Given the description of an element on the screen output the (x, y) to click on. 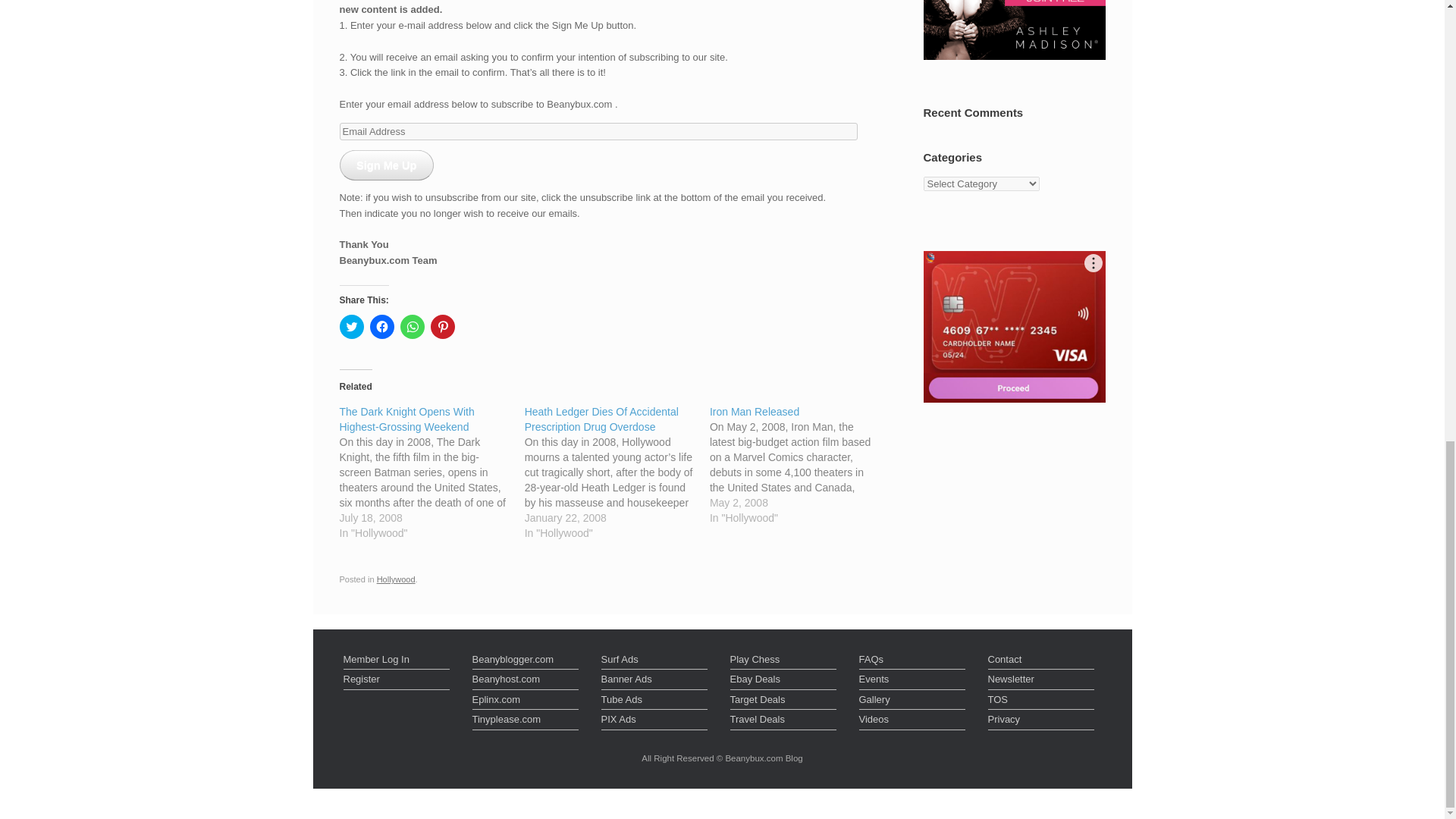
Click to share on Pinterest (442, 326)
Click to share on Facebook (381, 326)
The Dark Knight Opens With Highest-Grossing Weekend (406, 419)
The Dark Knight Opens With Highest-Grossing Weekend (431, 472)
Heath Ledger Dies Of Accidental Prescription Drug Overdose (617, 472)
Heath Ledger Dies Of Accidental Prescription Drug Overdose (601, 419)
Sign Me Up (386, 164)
Click to share on Twitter (351, 326)
Iron Man Released (754, 411)
Iron Man Released (802, 464)
Click to share on WhatsApp (412, 326)
